Given the description of an element on the screen output the (x, y) to click on. 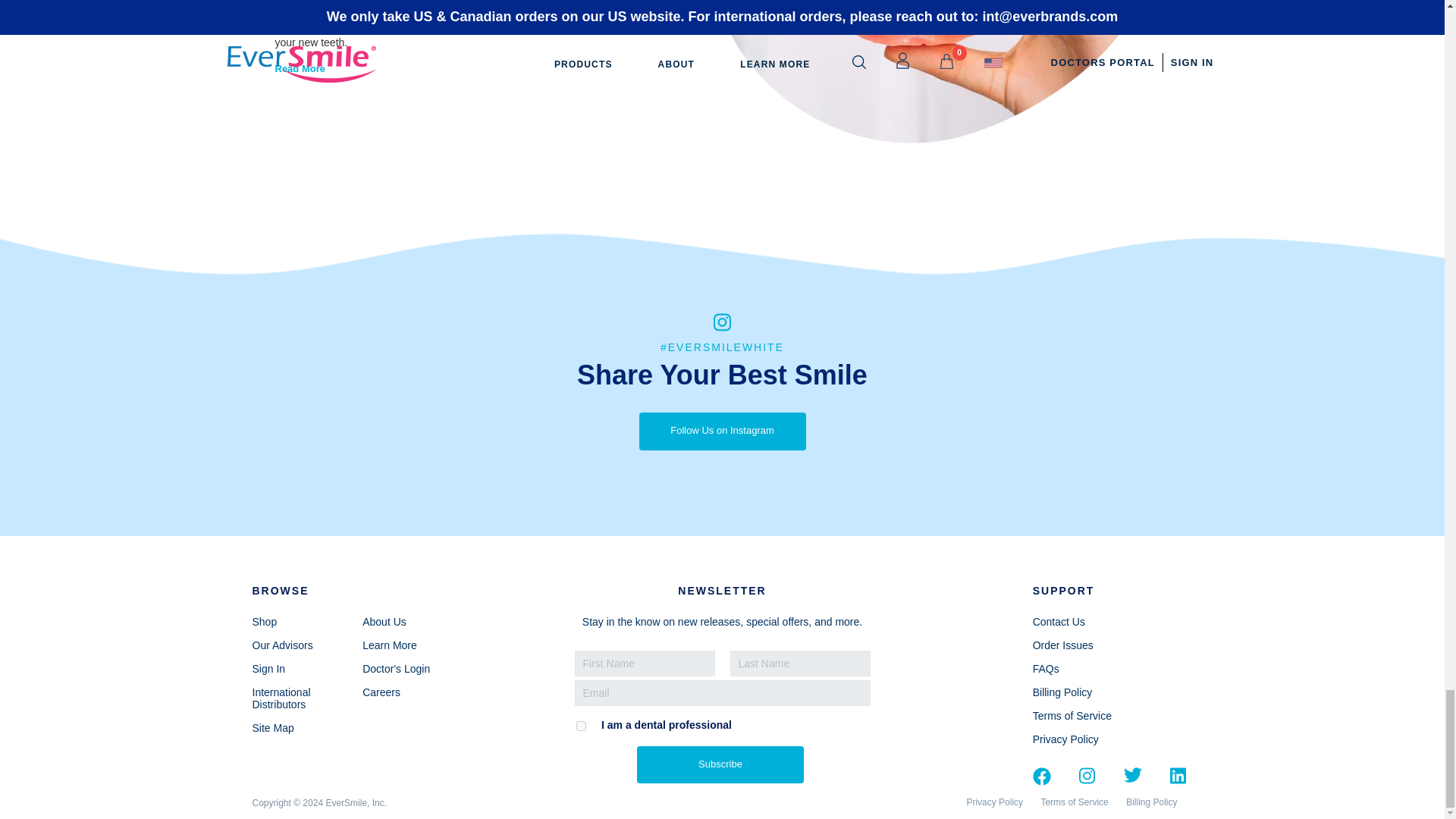
Subscribe (720, 764)
